Given the description of an element on the screen output the (x, y) to click on. 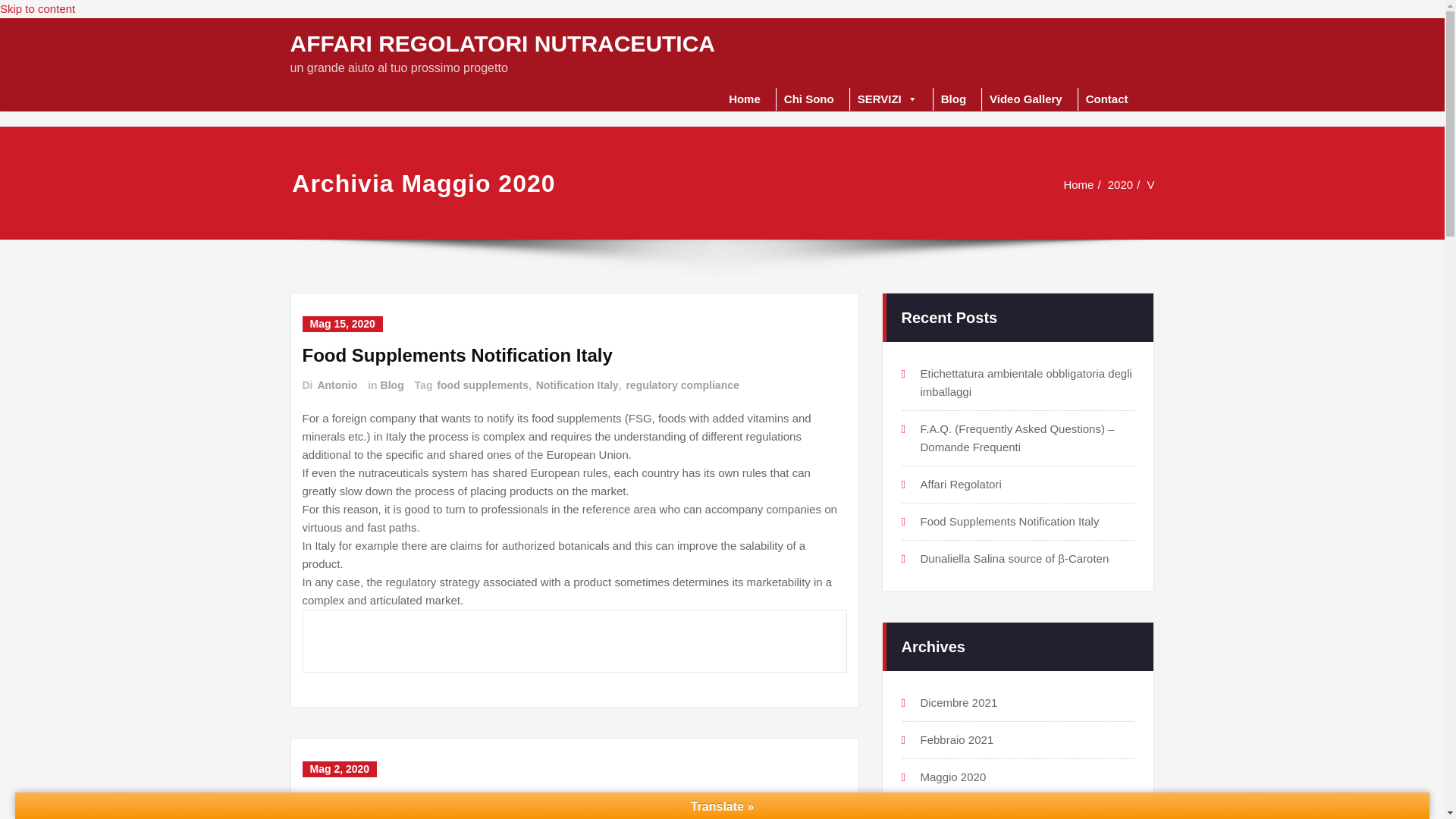
Contact (1106, 98)
Blog (391, 385)
Chi Sono (808, 98)
Mag 2, 2020 (339, 769)
Home (1077, 184)
SERVIZI (887, 98)
food supplements (481, 385)
Video Gallery (1025, 98)
Notification Italy (576, 385)
regulatory compliance (681, 385)
Skip to content (37, 8)
Antonio (335, 385)
Blog (953, 98)
Mag 15, 2020 (341, 324)
Food Supplements Notification Italy (456, 354)
